Given the description of an element on the screen output the (x, y) to click on. 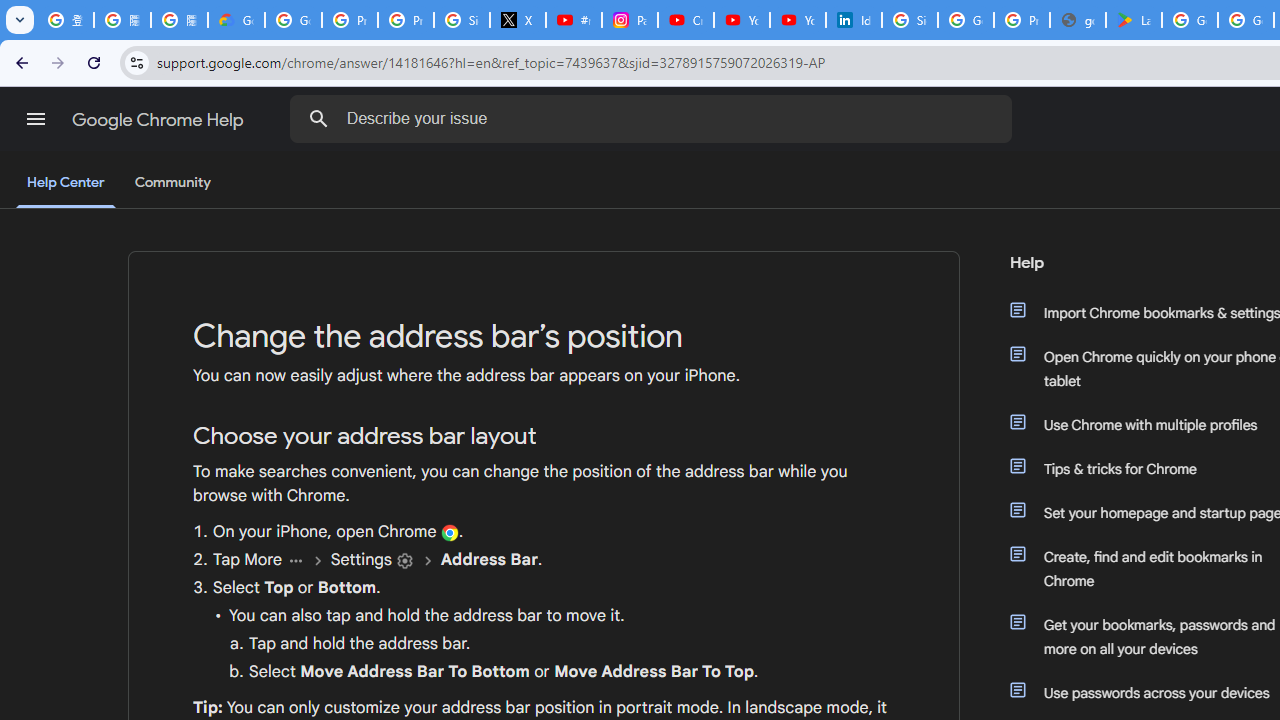
Main menu (35, 119)
Google Chrome Help (159, 119)
X (518, 20)
google_privacy_policy_en.pdf (1077, 20)
Describe your issue (653, 118)
Privacy Help Center - Policies Help (405, 20)
Sign in - Google Accounts (461, 20)
